Given the description of an element on the screen output the (x, y) to click on. 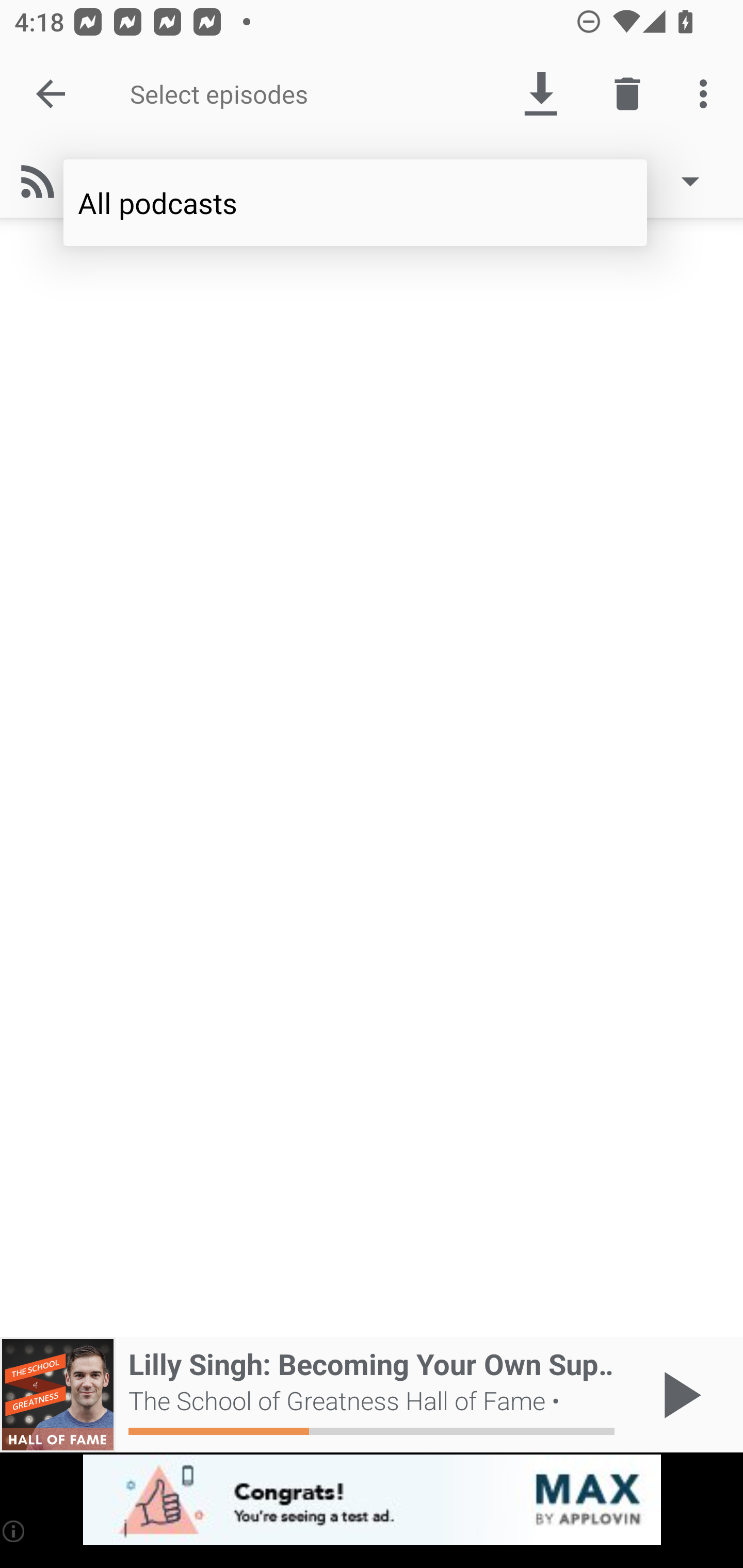
All podcasts (355, 202)
